Given the description of an element on the screen output the (x, y) to click on. 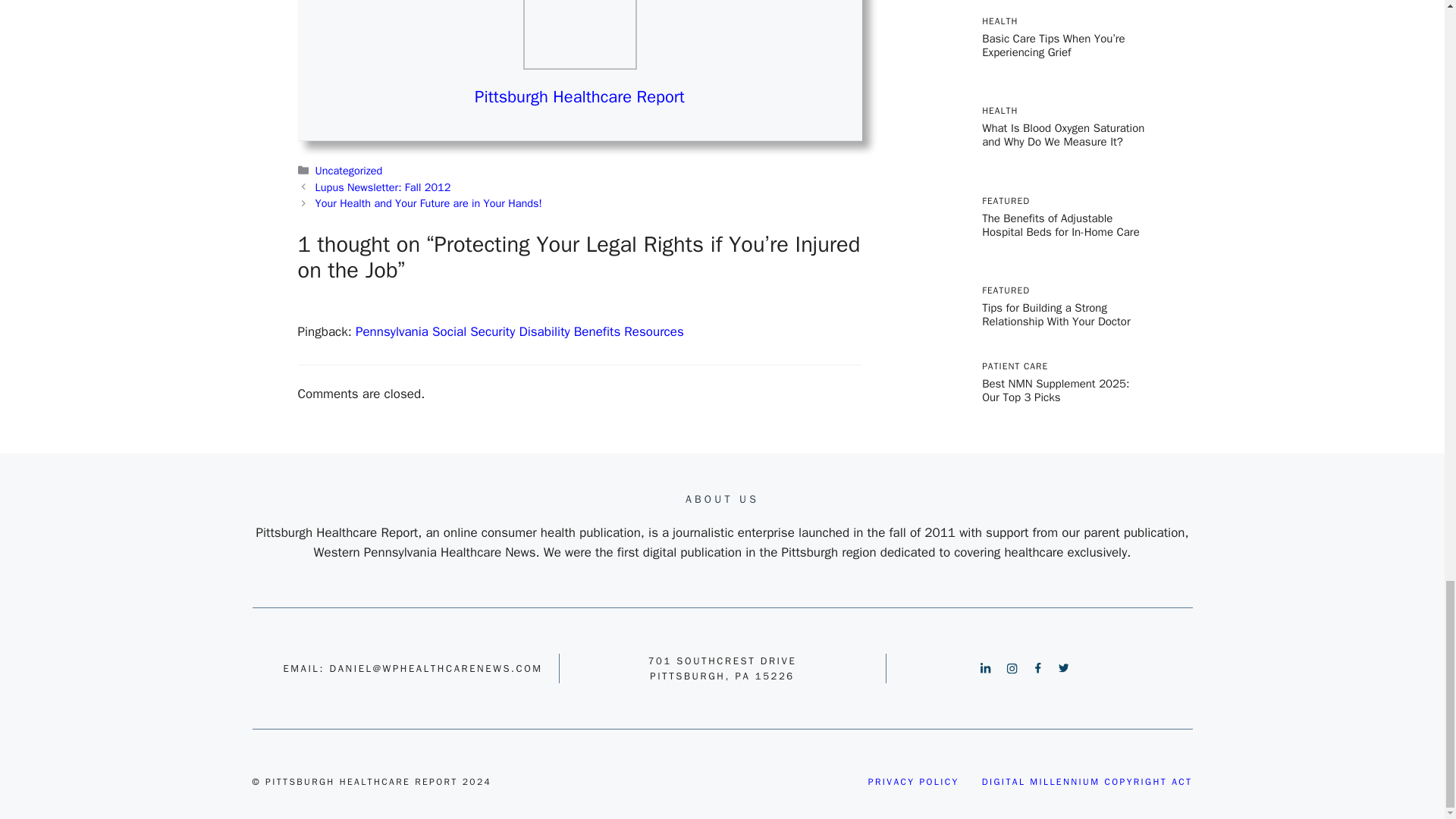
Uncategorized (348, 170)
Your Health and Your Future are in Your Hands! (428, 202)
Pittsburgh Healthcare Report (579, 96)
Pennsylvania Social Security Disability Benefits Resources (519, 331)
Lupus Newsletter: Fall 2012 (383, 187)
